Given the description of an element on the screen output the (x, y) to click on. 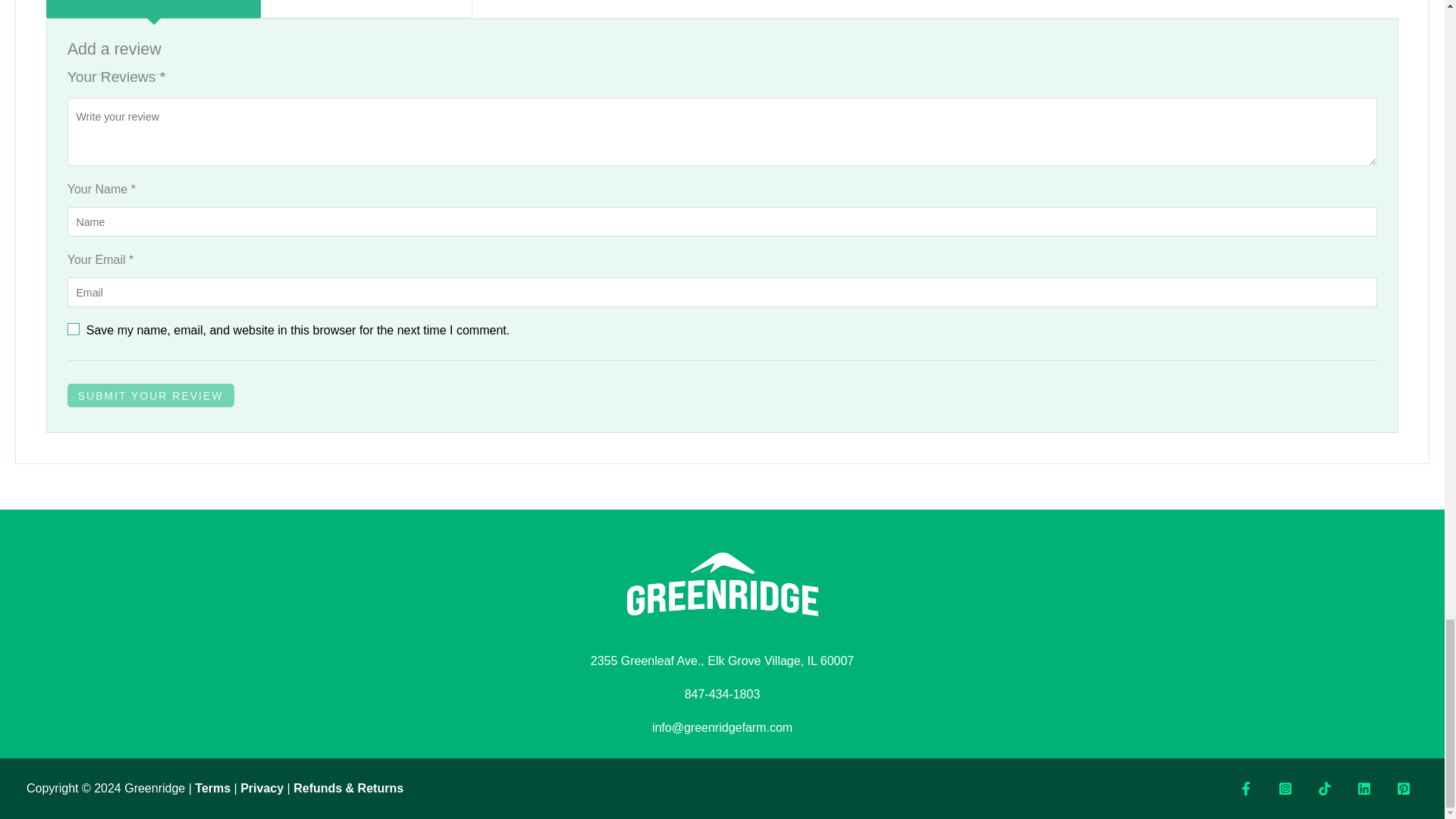
Submit Your Review (150, 395)
